Given the description of an element on the screen output the (x, y) to click on. 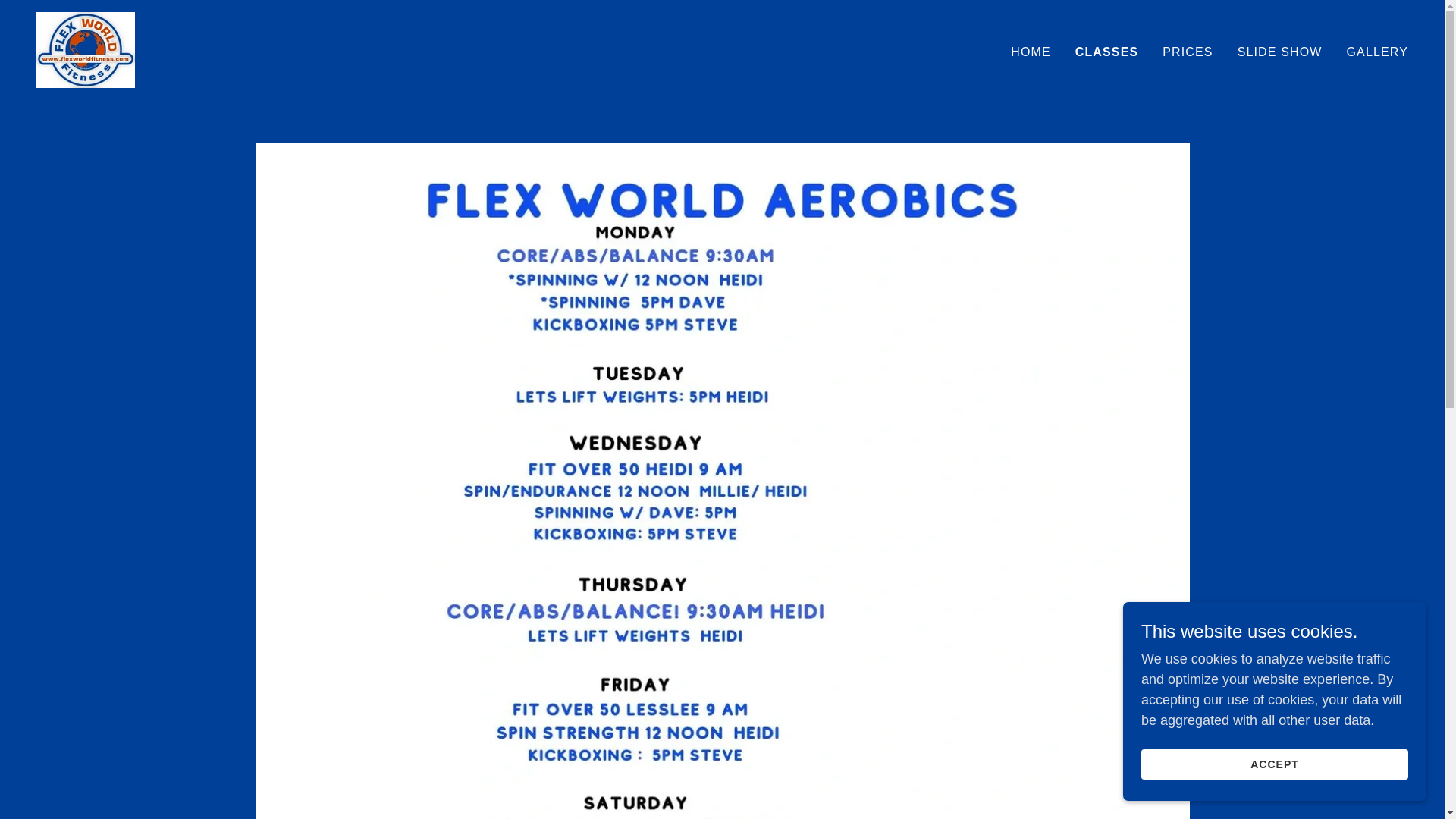
HOME (1030, 51)
PRICES (1187, 51)
SLIDE SHOW (1279, 51)
CLASSES (1106, 51)
GALLERY (1377, 51)
ACCEPT (1274, 764)
